Given the description of an element on the screen output the (x, y) to click on. 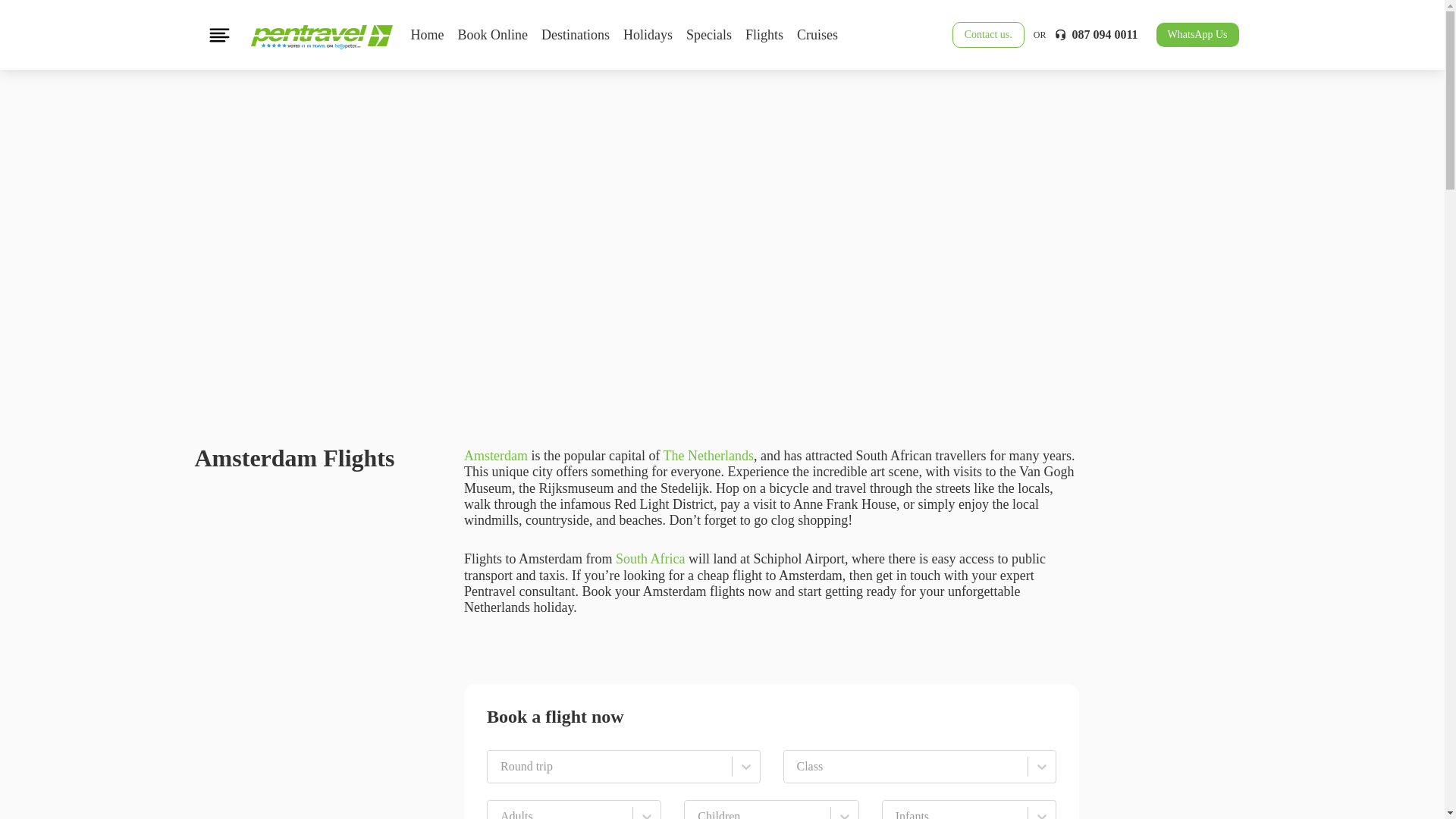
Amsterdam (495, 455)
South Africa (650, 558)
Home (427, 35)
087 094 0011 (1095, 34)
WhatsApp Us (1197, 34)
South Africa (650, 558)
Contact us. (988, 34)
The Netherlands (708, 455)
Amsterdam (495, 455)
The Netherlands (708, 455)
